Given the description of an element on the screen output the (x, y) to click on. 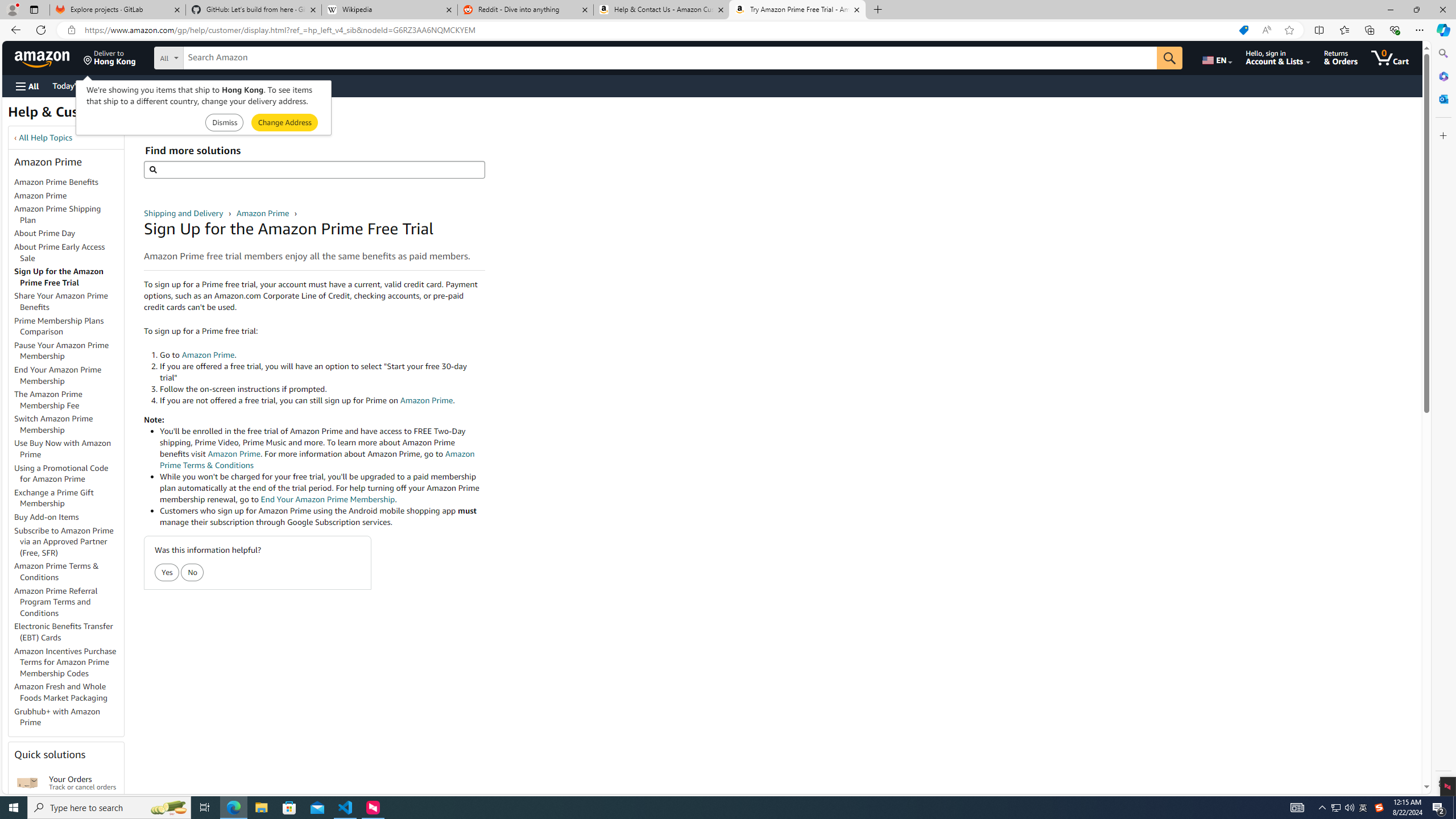
Deliver to Hong Kong (109, 57)
Reddit - Dive into anything (525, 9)
Amazon (43, 57)
Hello, sign in Account & Lists (1278, 57)
Sign Up for the Amazon Prime Free Trial (68, 277)
About Prime Early Access Sale (68, 252)
Amazon Prime Referral Program Terms and Conditions (68, 602)
Prime Membership Plans Comparison (58, 326)
Amazon Fresh and Whole Foods Market Packaging (60, 691)
Go to Amazon Prime. (322, 354)
